Given the description of an element on the screen output the (x, y) to click on. 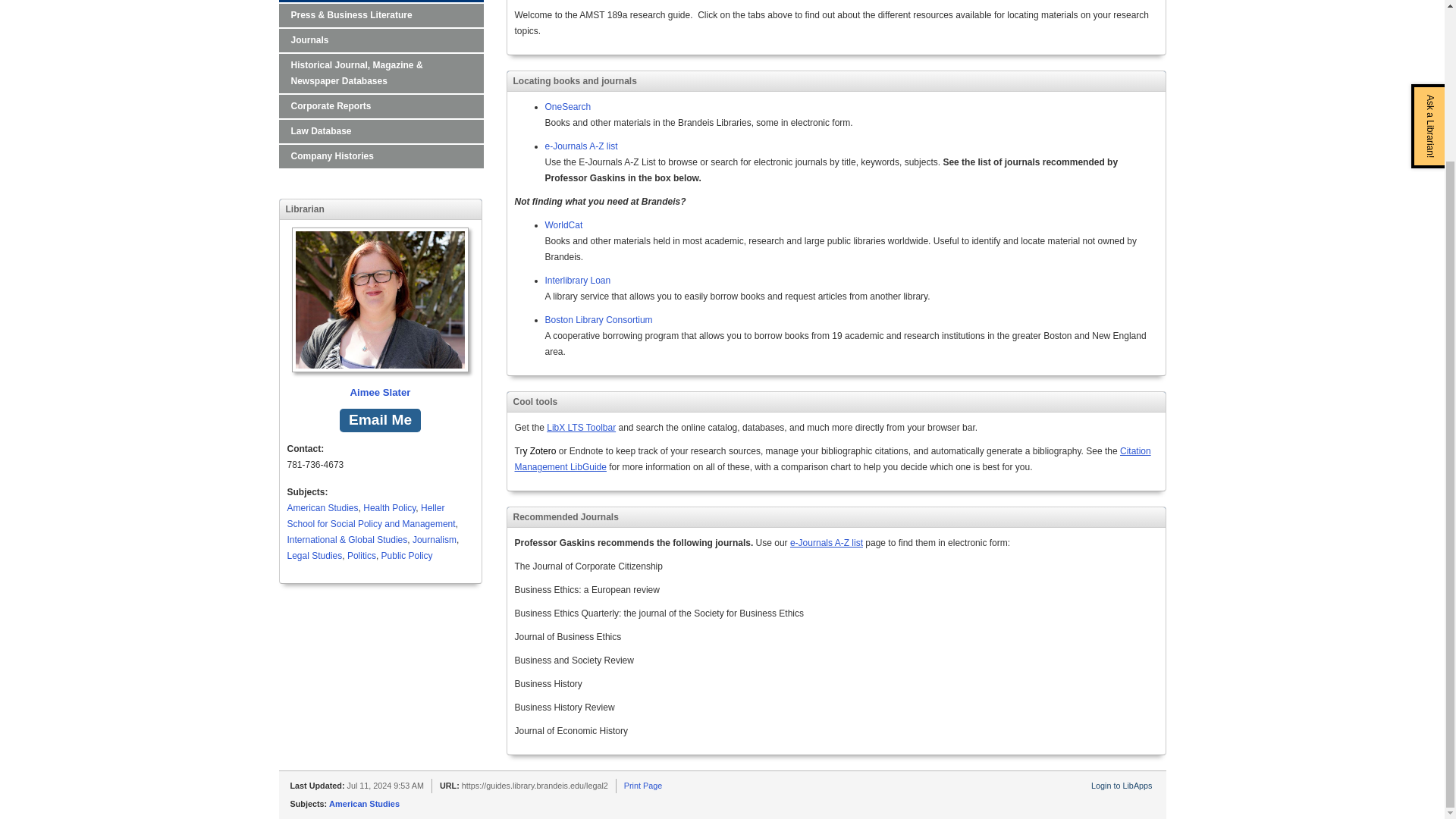
Login to LibApps (1120, 785)
Journals (381, 40)
Boston Library Consortium (598, 319)
Public Policy (406, 555)
Law Database (381, 131)
Interlibrary Loan (577, 280)
Citation Management LibGuide (831, 458)
Brandeis Library OneSearch (567, 106)
Print Page (643, 785)
Heller School for Social Policy and Management (370, 515)
Politics (361, 555)
Company Histories (381, 156)
e-Journals A-Z list (826, 542)
LibX LTS Toolbar (581, 427)
Corporate Reports (381, 106)
